Given the description of an element on the screen output the (x, y) to click on. 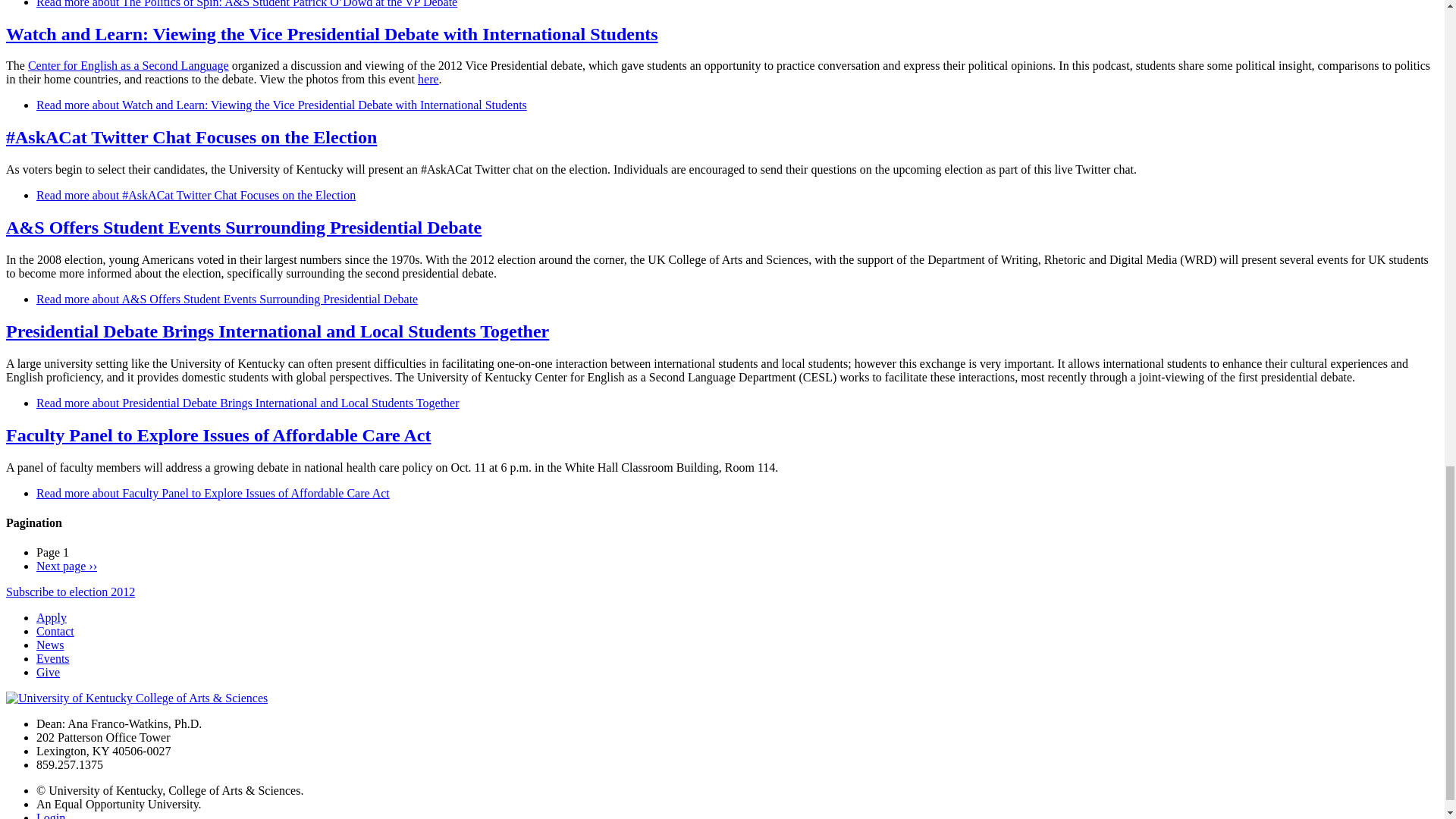
Faculty Panel to Explore Issues of Affordable Care Act  (213, 492)
Go to next page (66, 565)
